Given the description of an element on the screen output the (x, y) to click on. 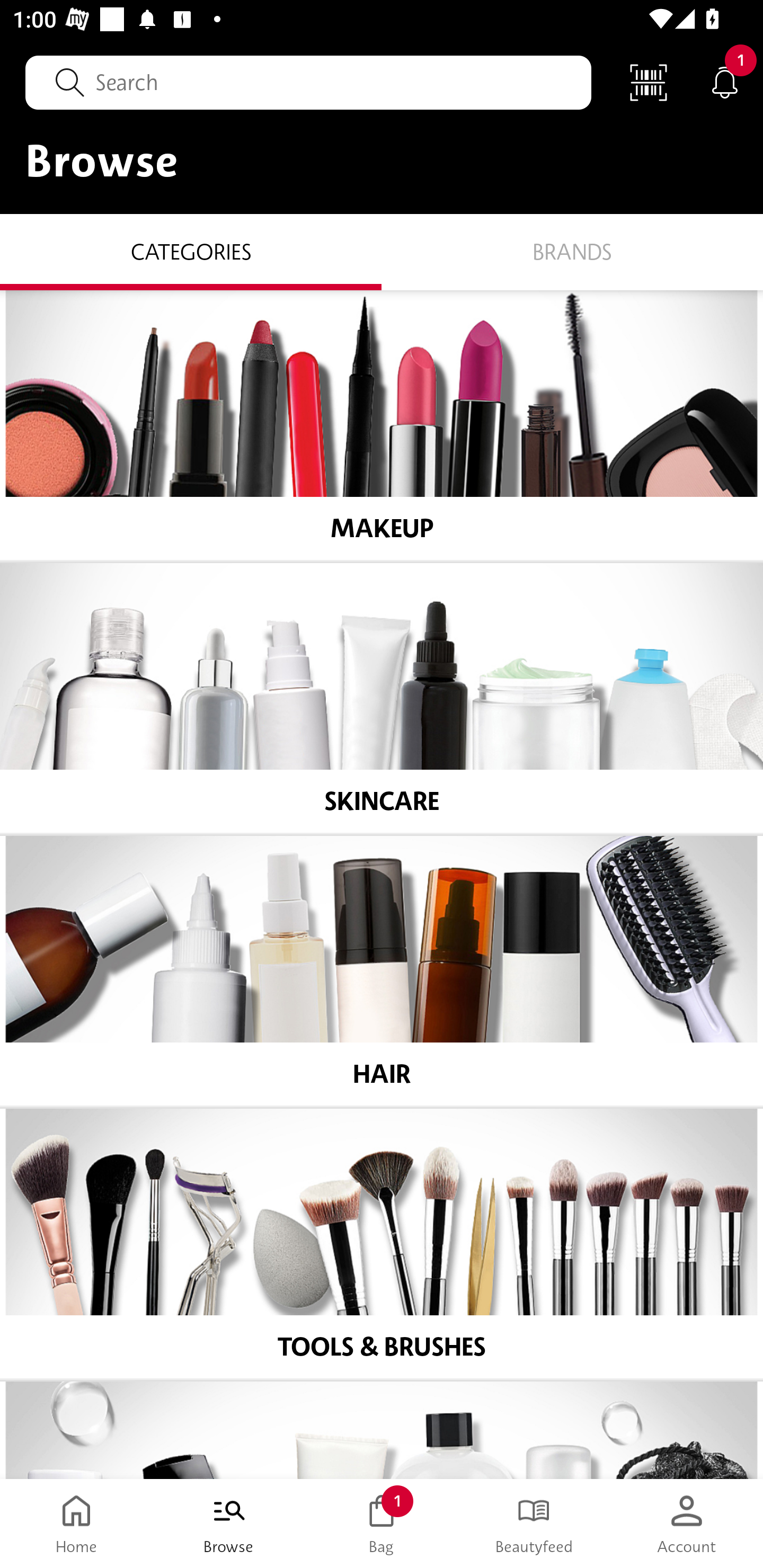
Scan Code (648, 81)
Notifications (724, 81)
Search (308, 81)
Brands BRANDS (572, 251)
MAKEUP (381, 425)
SKINCARE (381, 698)
HAIR (381, 971)
TOOLS & BRUSHES (381, 1243)
Home (76, 1523)
Bag 1 Bag (381, 1523)
Beautyfeed (533, 1523)
Account (686, 1523)
